Given the description of an element on the screen output the (x, y) to click on. 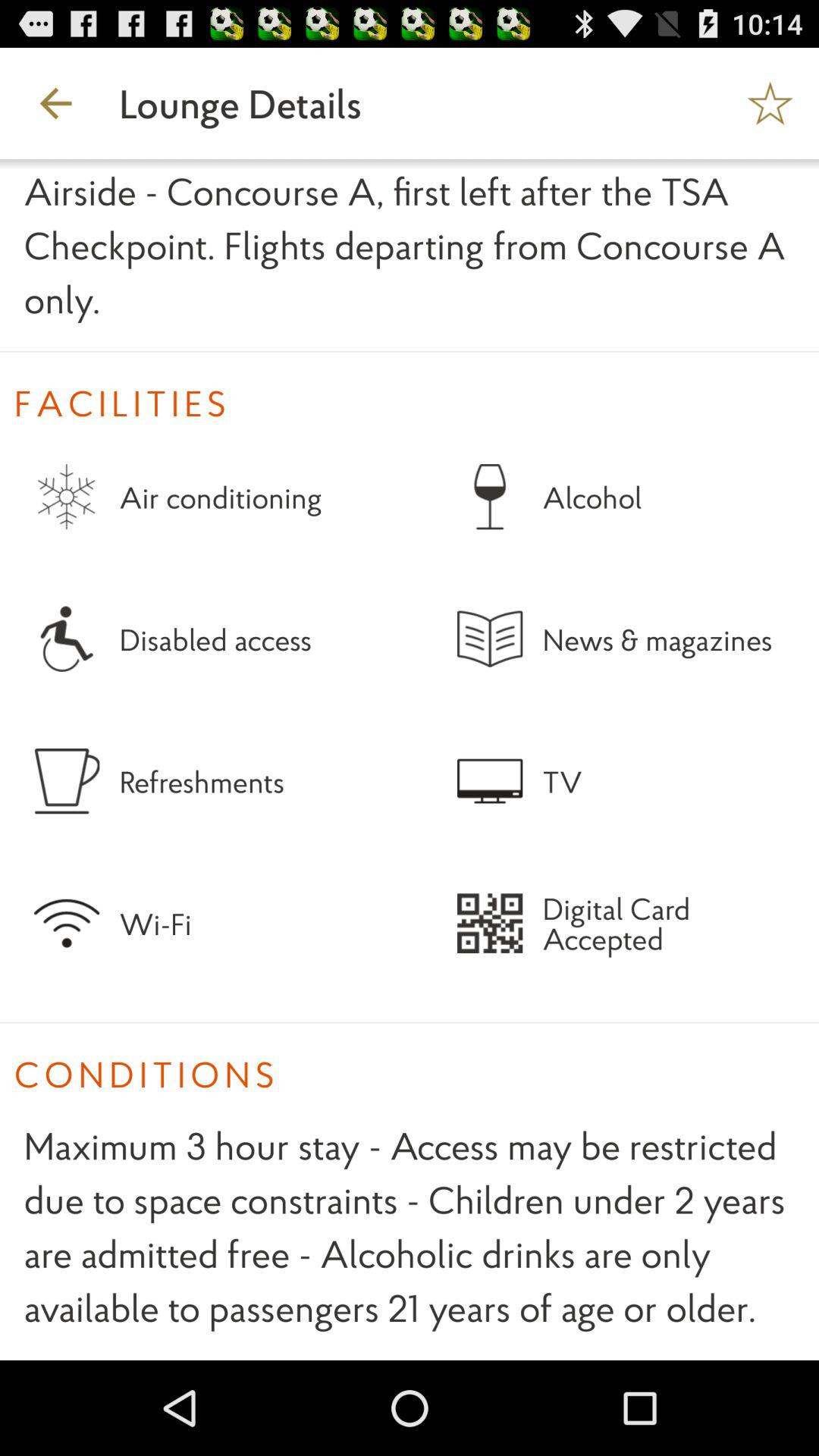
tap item next to lounge details (771, 103)
